Given the description of an element on the screen output the (x, y) to click on. 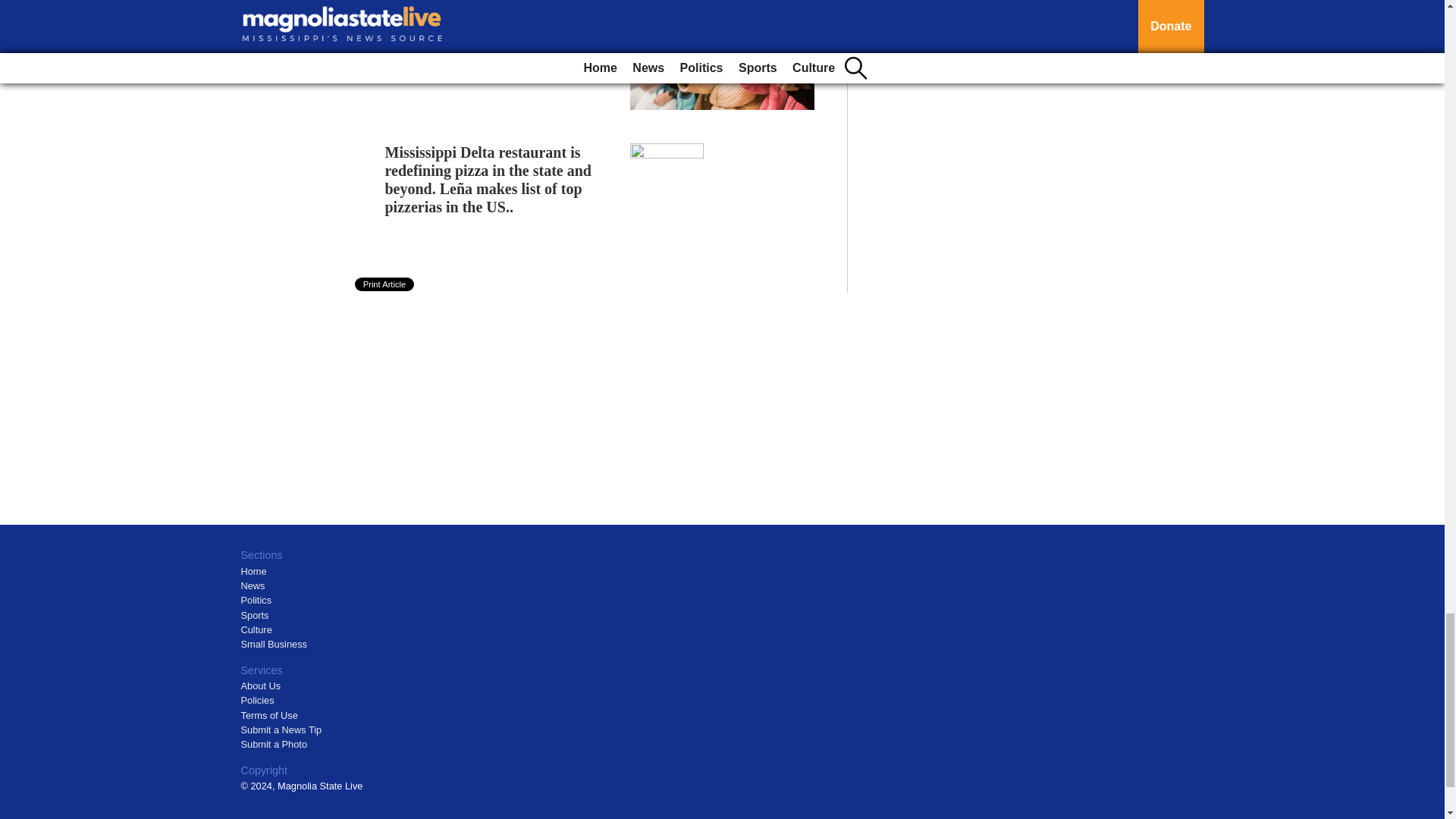
Submit a News Tip (281, 729)
Home (253, 571)
Culture (256, 629)
Politics (256, 600)
Terms of Use (269, 715)
Small Business (274, 644)
Policies (258, 699)
About Us (261, 685)
Print Article (384, 284)
Submit a Photo (274, 744)
News (252, 585)
Sports (255, 614)
